Given the description of an element on the screen output the (x, y) to click on. 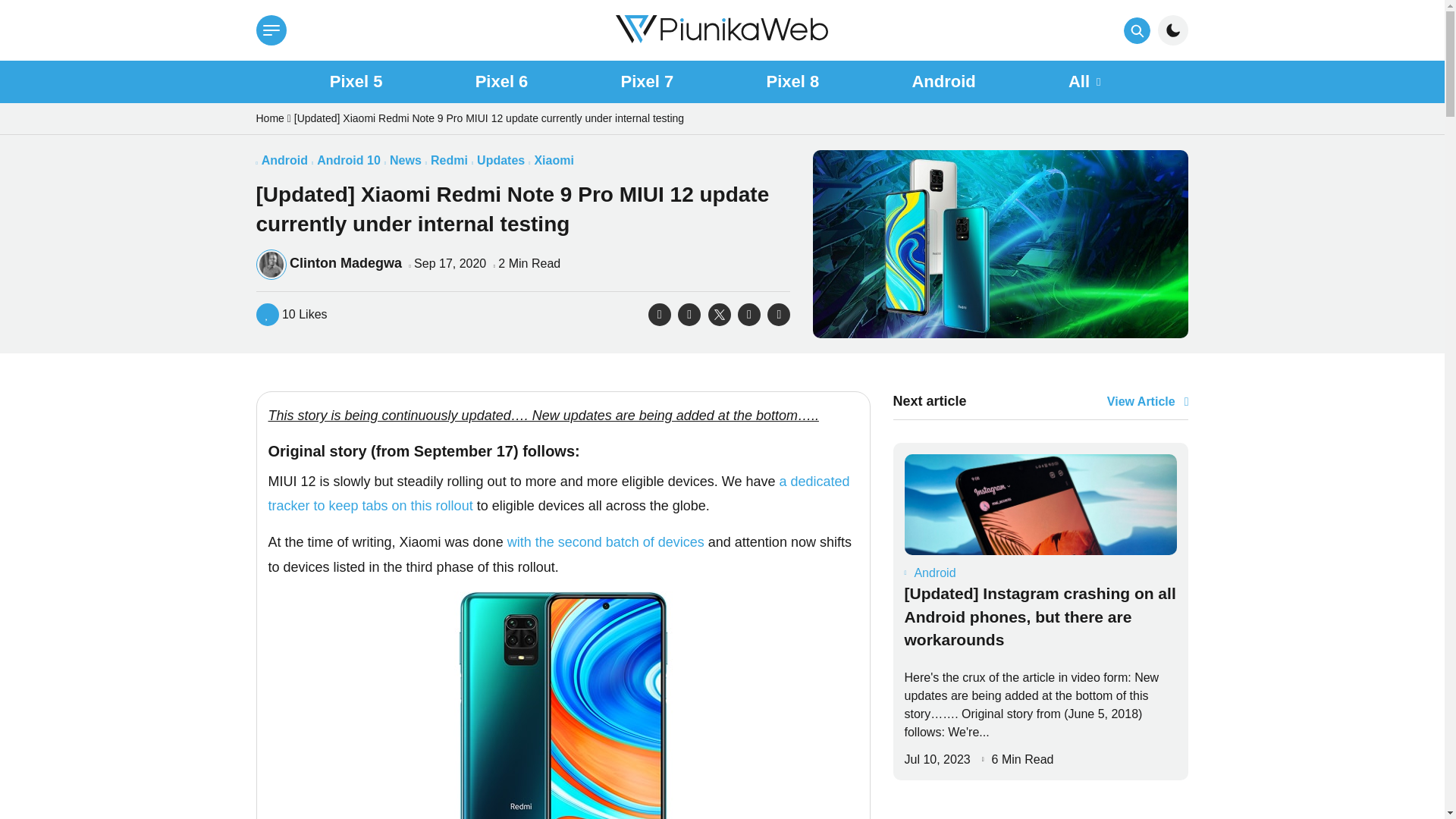
Android (944, 81)
Android 10 (348, 160)
News (406, 160)
Pixel 6 (502, 81)
Pixel 7 (647, 81)
Redmi (448, 160)
Love (291, 314)
Xiaomi (553, 160)
Updates (500, 160)
Android (284, 160)
Pixel 5 (356, 81)
Clinton Madegwa (345, 263)
Pixel 8 (792, 81)
